Given the description of an element on the screen output the (x, y) to click on. 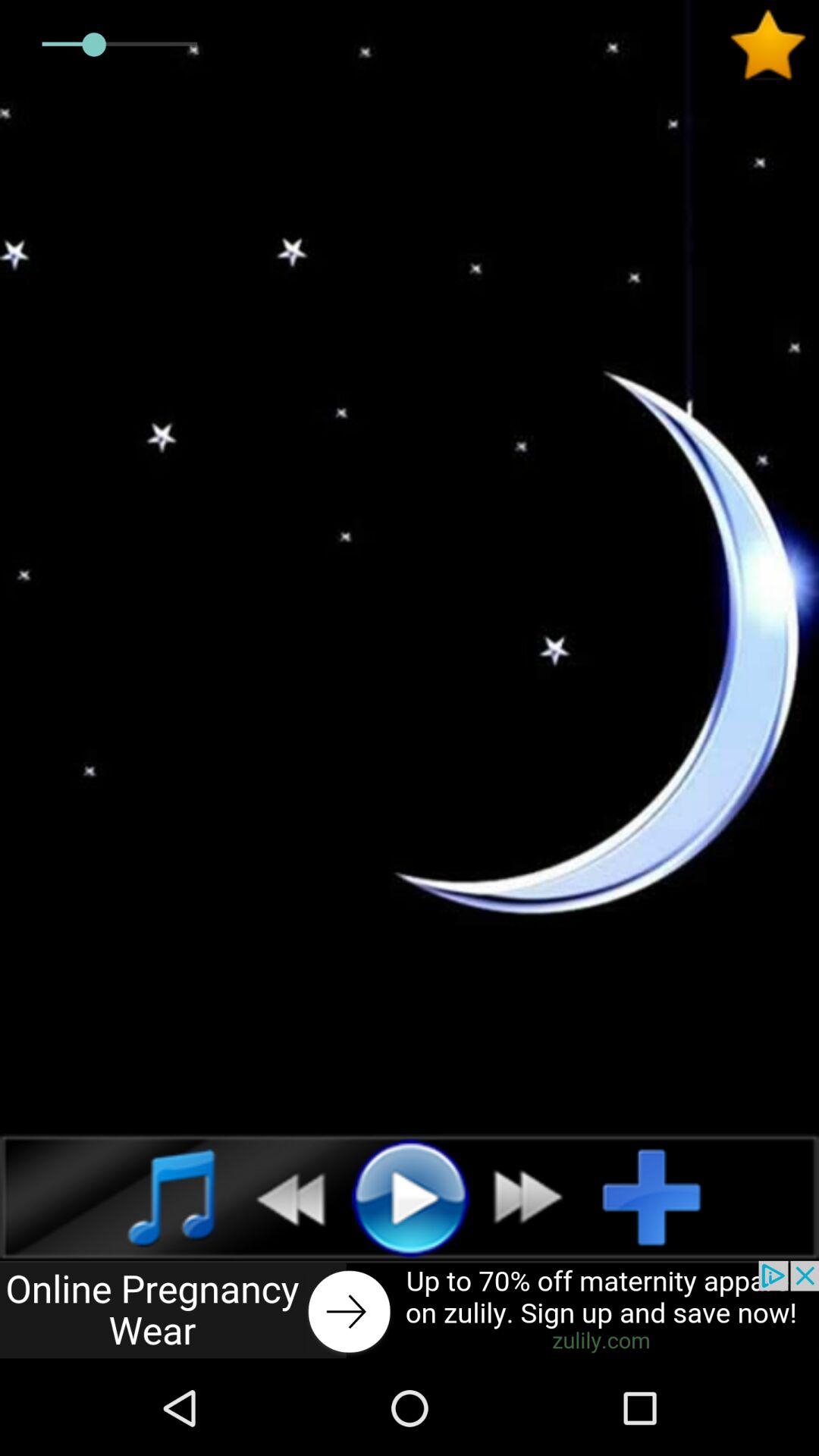
play selection (409, 1196)
